Given the description of an element on the screen output the (x, y) to click on. 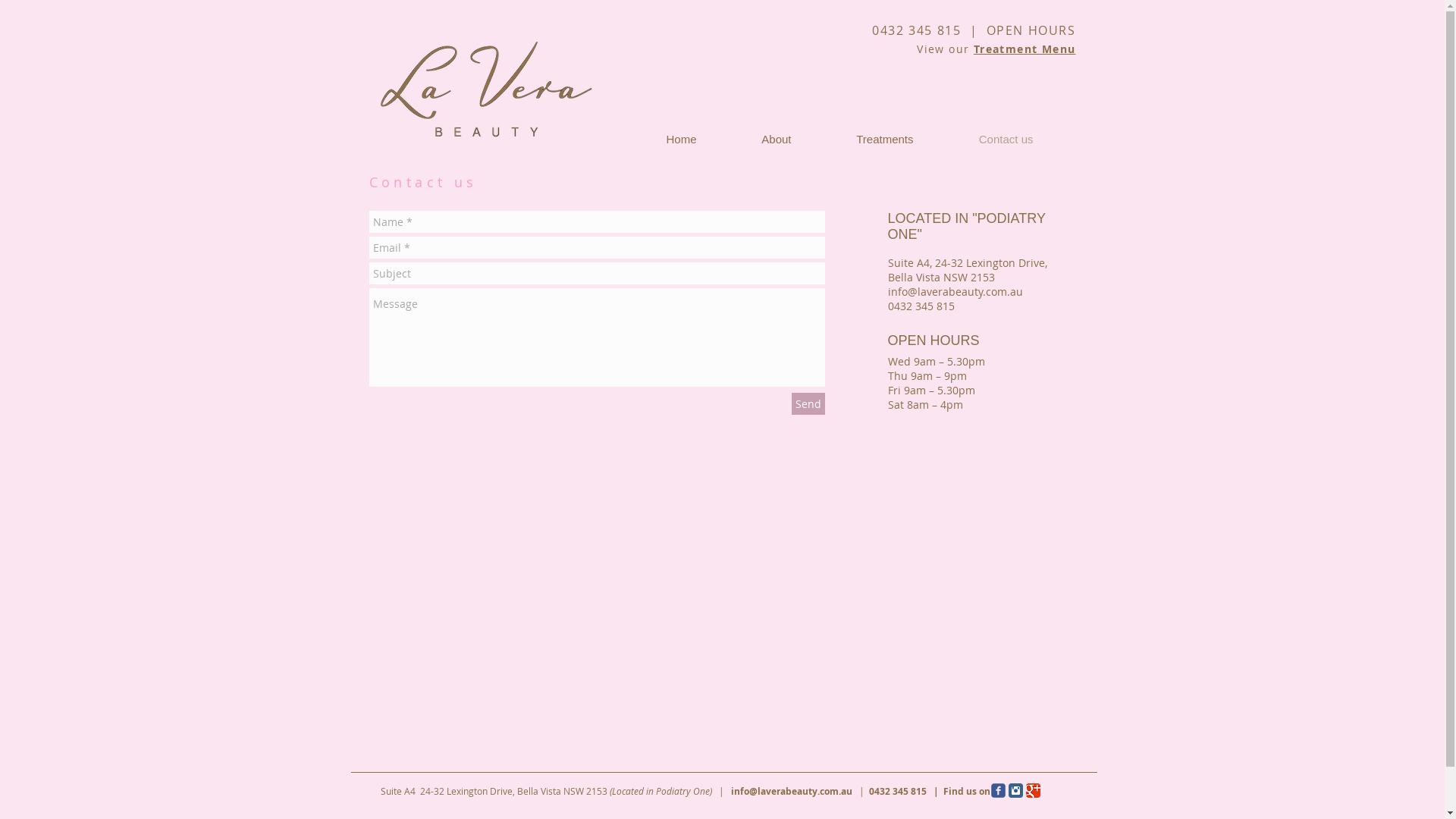
OPEN HOURS Element type: text (1030, 29)
About Element type: text (755, 138)
info@laverabeauty.com.au Element type: text (791, 790)
LaVeraLogo.png Element type: hover (485, 88)
info@laverabeauty.com.au Element type: text (954, 291)
Contact us Element type: text (984, 138)
Google Maps Element type: hover (720, 602)
Treatments Element type: text (863, 138)
Treatment Menu Element type: text (1024, 48)
Send Element type: text (808, 403)
Home Element type: text (659, 138)
